Given the description of an element on the screen output the (x, y) to click on. 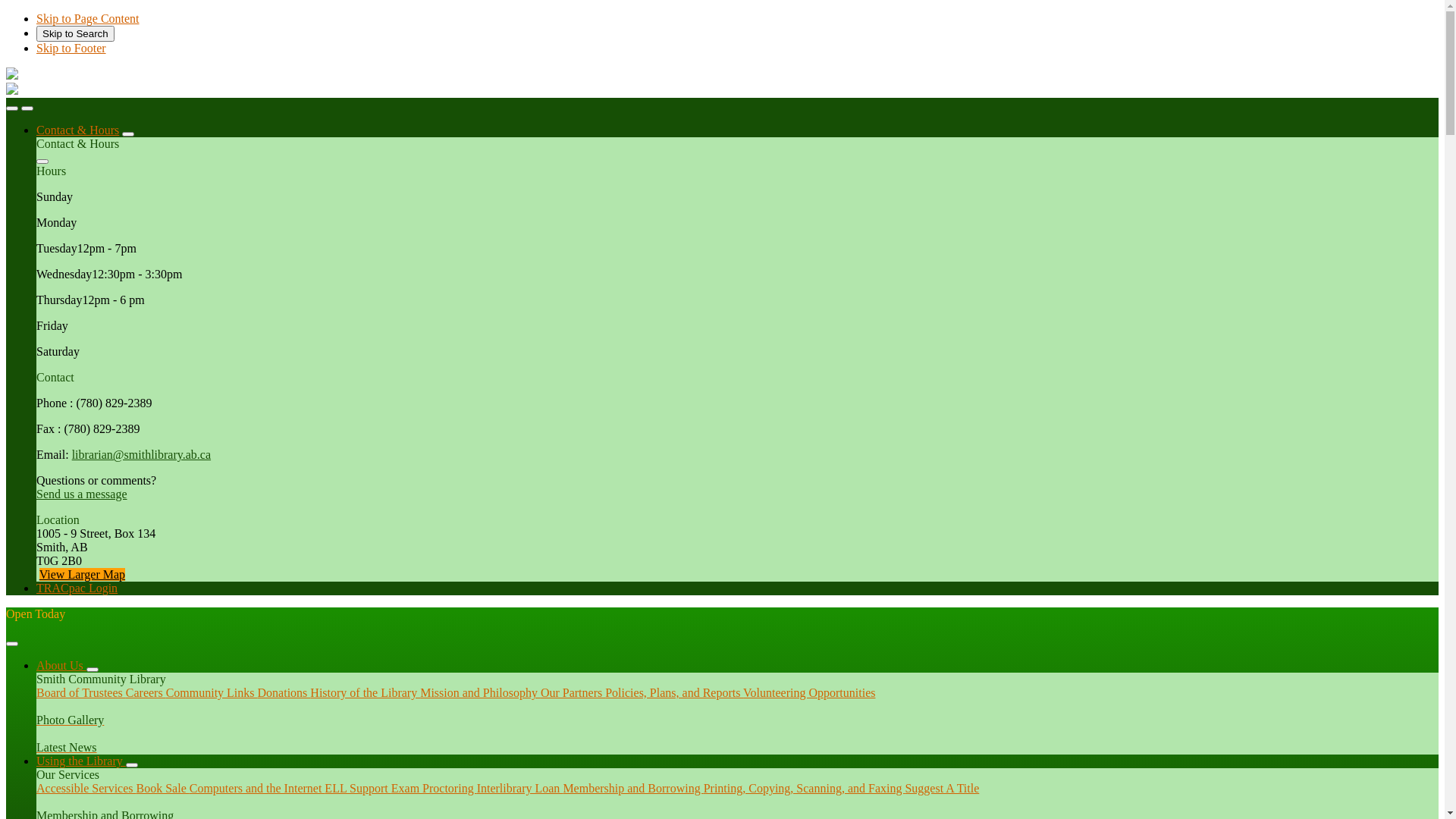
Skip to Footer Element type: text (71, 47)
ELL Support Element type: text (357, 787)
Board of Trustees Element type: text (80, 692)
Volunteering Opportunities Element type: text (809, 692)
Exam Proctoring Element type: text (433, 787)
Membership and Borrowing Element type: text (632, 787)
Book Sale Element type: text (162, 787)
Computers and the Internet Element type: text (257, 787)
Policies, Plans, and Reports Element type: text (674, 692)
Using the Library Element type: text (80, 760)
Smith Community Library Element type: hover (12, 90)
Contact & Hours Element type: text (77, 129)
View Larger Map Element type: text (82, 573)
Interlibrary Loan Element type: text (519, 787)
librarian@smithlibrary.ab.ca Element type: text (141, 454)
Careers Element type: text (145, 692)
Suggest A Title Element type: text (941, 787)
TRACpac Login Element type: text (76, 587)
Latest News Element type: text (737, 740)
Printing, Copying, Scanning, and Faxing Element type: text (804, 787)
History of the Library Element type: text (365, 692)
Our Partners Element type: text (572, 692)
Skip to Page Content Element type: text (87, 18)
Mission and Philosophy Element type: text (480, 692)
Skip to Search Element type: text (75, 33)
Send us a message Element type: text (81, 493)
Accessible Services Element type: text (86, 787)
Donations Element type: text (283, 692)
About Us Element type: text (61, 664)
Photo Gallery Element type: text (737, 713)
Community Links Element type: text (211, 692)
